Given the description of an element on the screen output the (x, y) to click on. 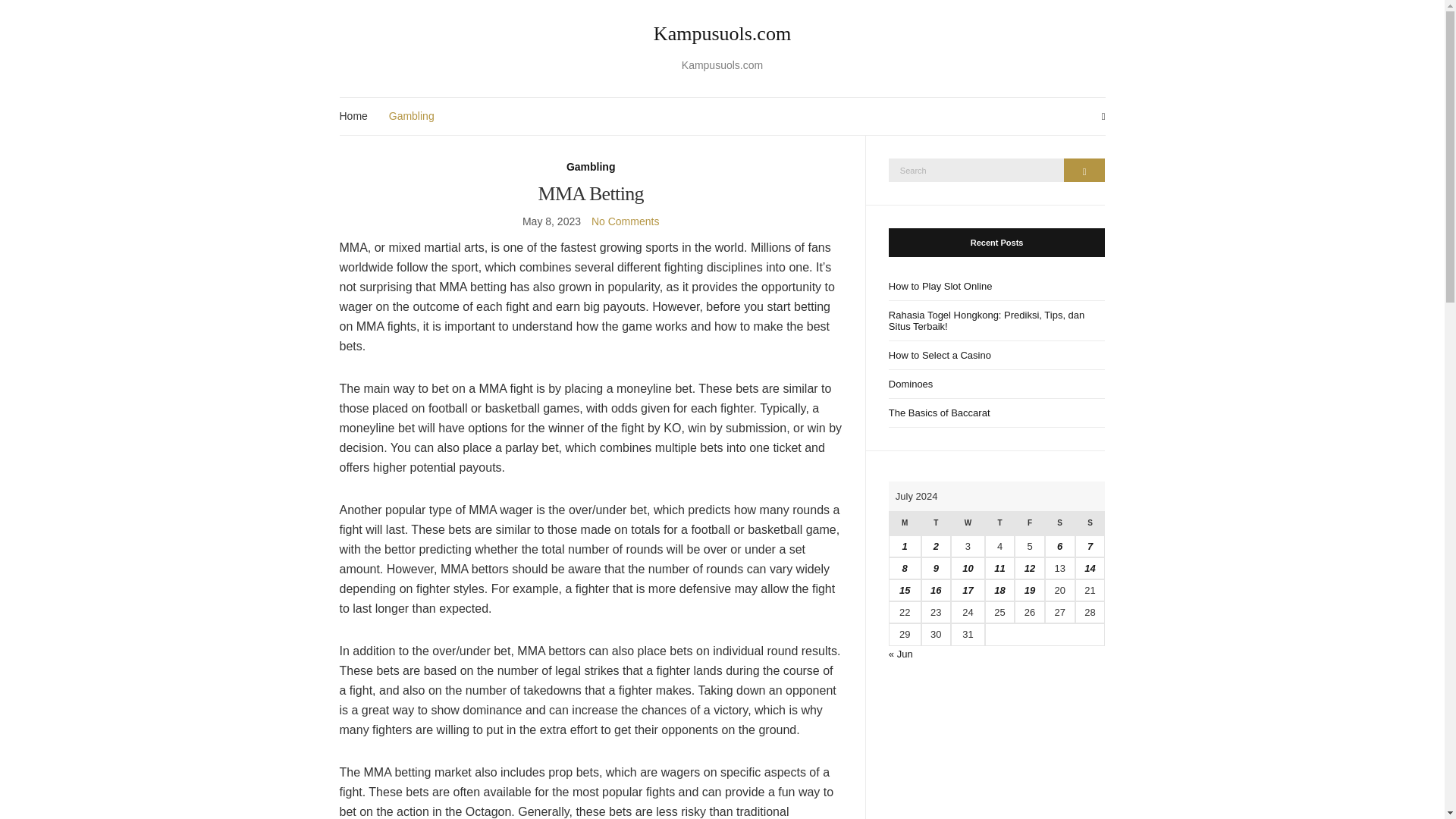
How to Play Slot Online (996, 285)
Wednesday (967, 523)
Sunday (1090, 523)
Rahasia Togel Hongkong: Prediksi, Tips, dan Situs Terbaik! (996, 320)
Monday (904, 523)
How to Select a Casino (996, 355)
17 (967, 590)
Saturday (1060, 523)
Dominoes (996, 384)
Home (353, 116)
Friday (1028, 523)
Gambling (590, 166)
10 (967, 568)
Thursday (999, 523)
14 (1089, 568)
